Given the description of an element on the screen output the (x, y) to click on. 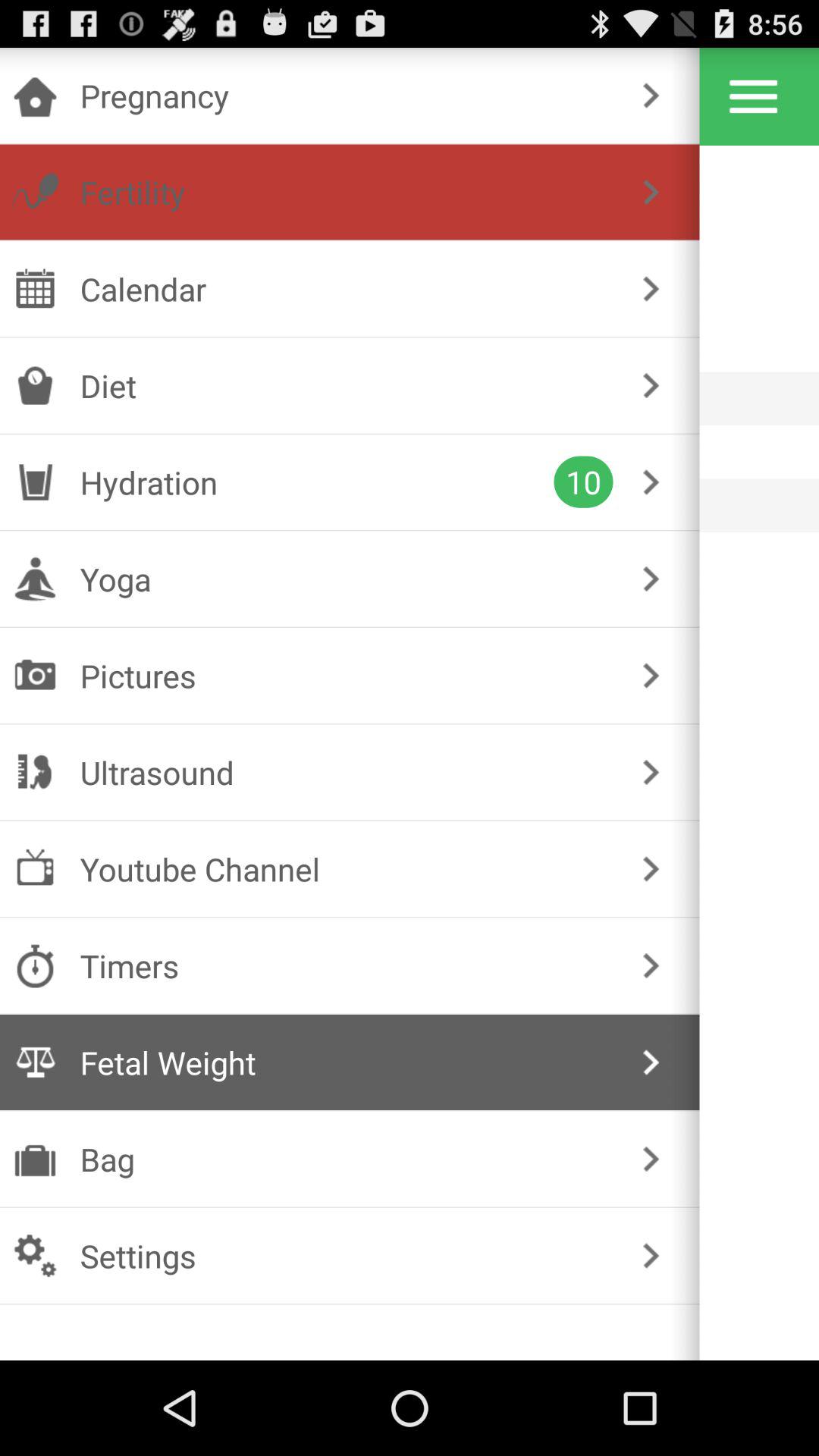
view settings (753, 96)
